Given the description of an element on the screen output the (x, y) to click on. 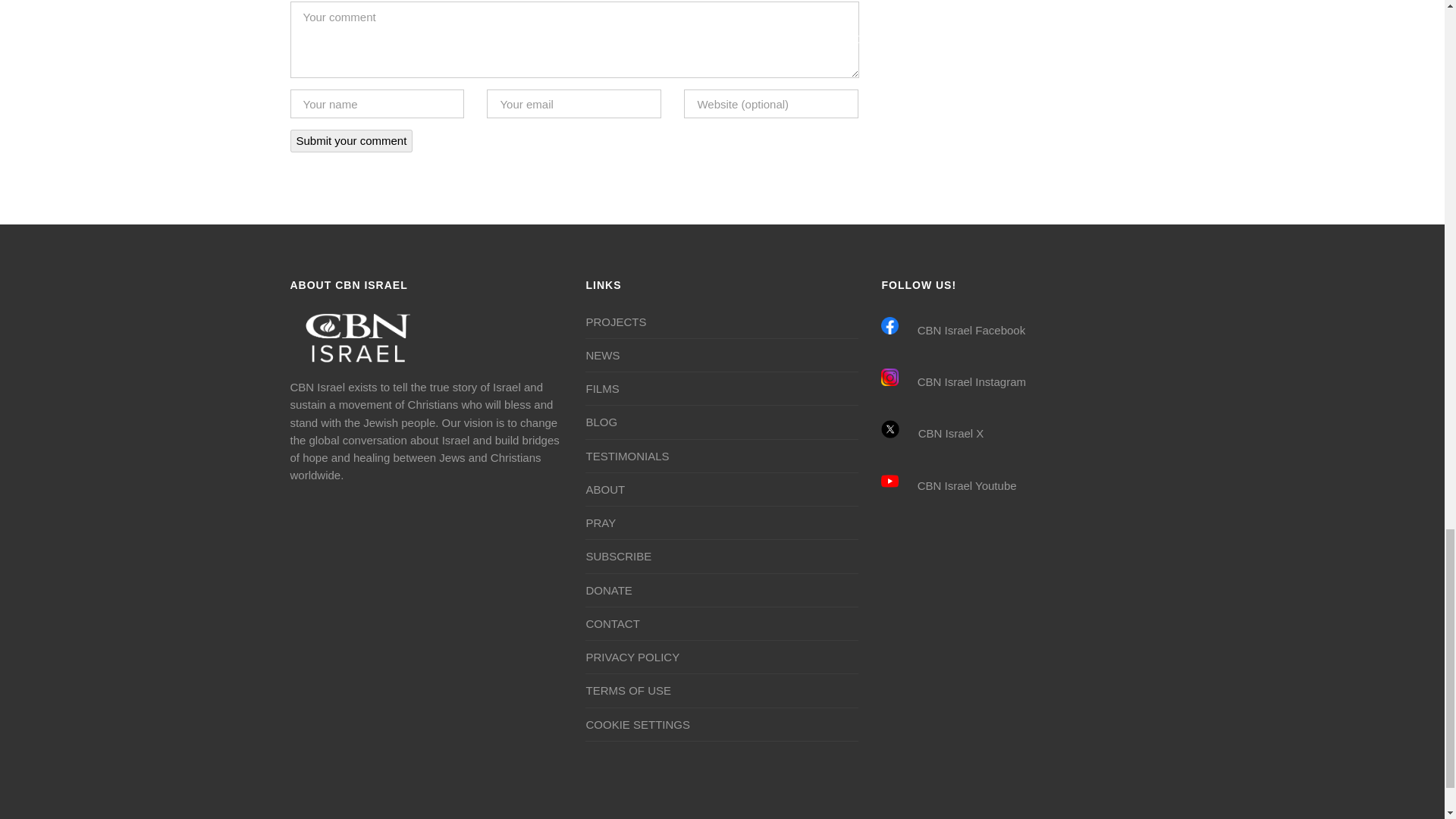
Submit your comment (350, 140)
FILMS (601, 388)
PROJECTS (615, 321)
NEWS (602, 354)
Submit your comment (350, 140)
